Given the description of an element on the screen output the (x, y) to click on. 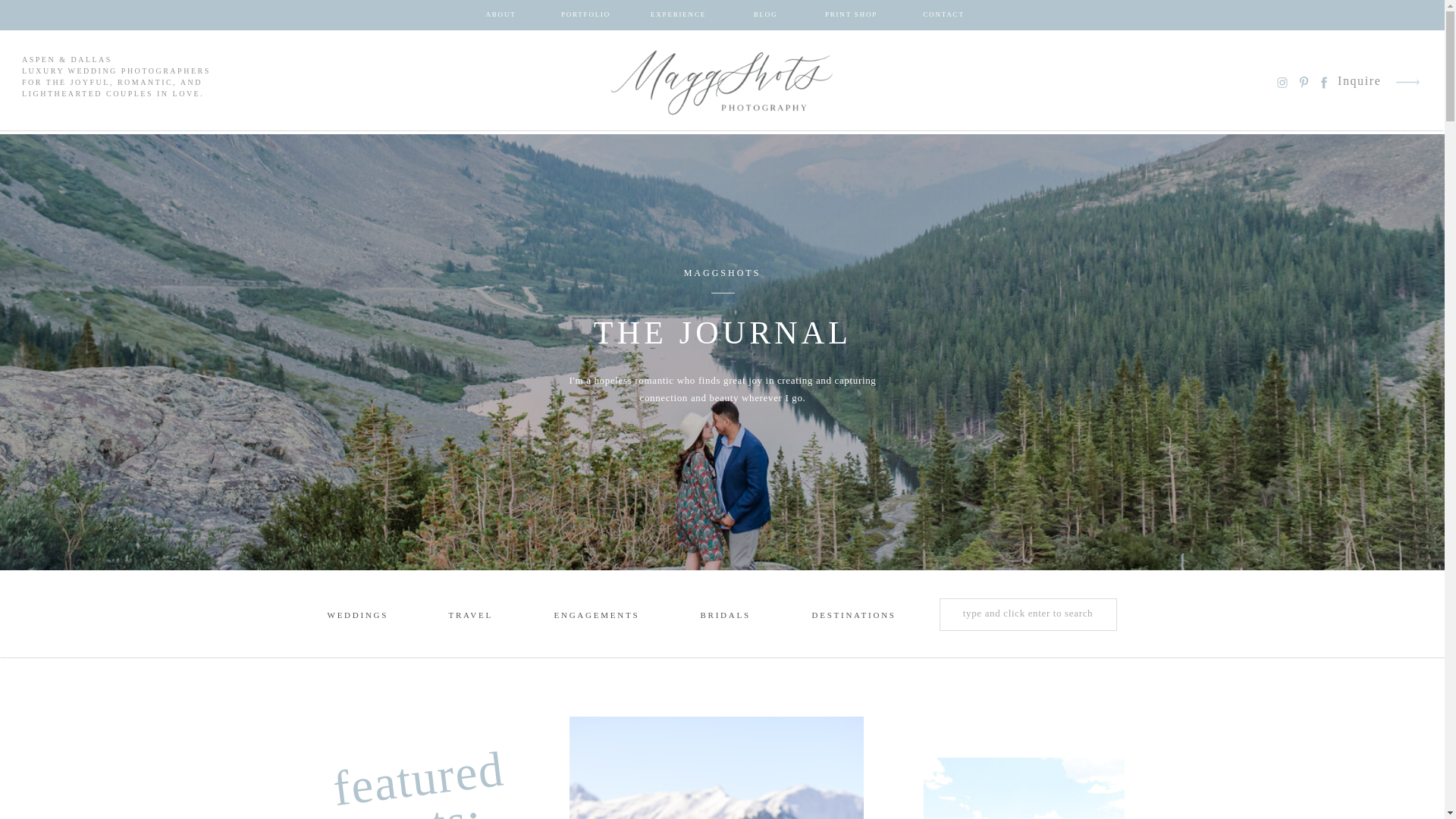
arrow (1407, 81)
PRINT SHOP (851, 15)
BRIDALS (729, 616)
Inquire  (1360, 82)
WEDDINGS (357, 616)
PORTFOLIO (585, 15)
TRAVEL (470, 616)
ENGAGEMENTS (596, 616)
CONTACT (944, 15)
arrow (1407, 81)
ABOUT (500, 15)
EXPERIENCE (678, 15)
BLOG (764, 15)
DESTINATIONS (843, 616)
